Given the description of an element on the screen output the (x, y) to click on. 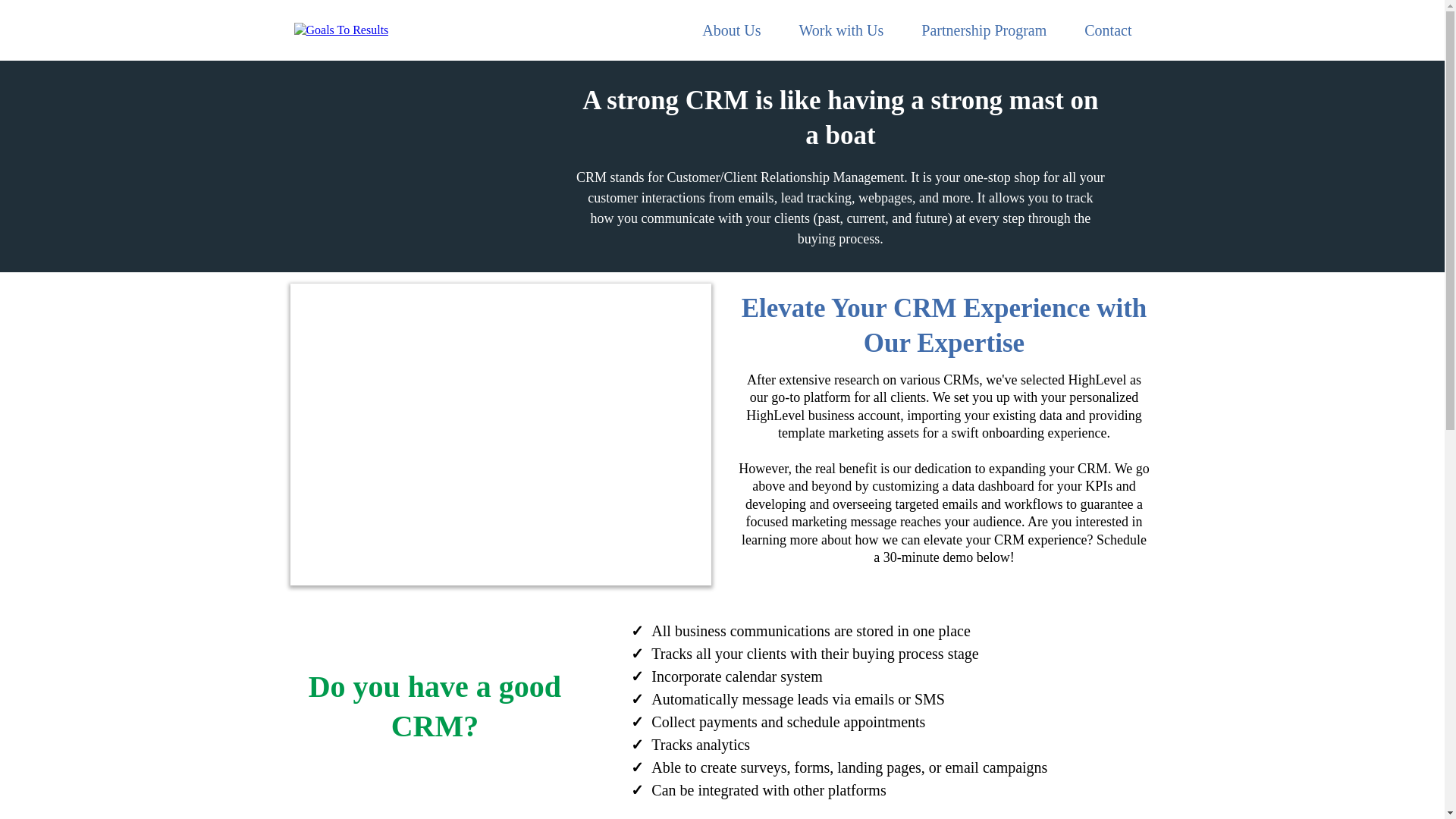
About Us (730, 30)
Work with Us (841, 30)
Partnership Program (983, 30)
Contact (1107, 30)
